Given the description of an element on the screen output the (x, y) to click on. 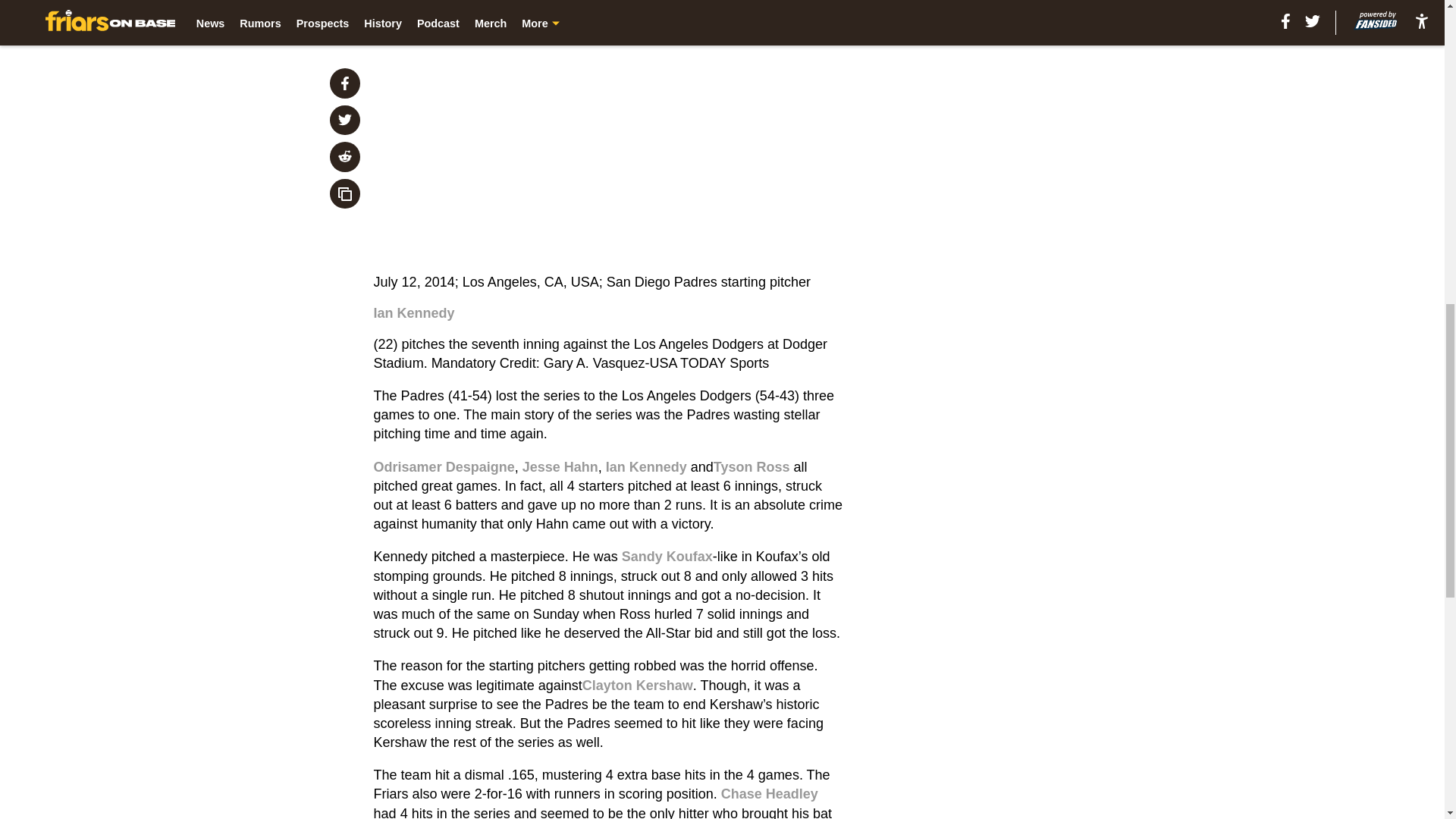
Tyson Ross (751, 467)
Ian Kennedy (646, 467)
Clayton Kershaw (637, 685)
Jesse Hahn (560, 467)
Sandy Koufax (667, 556)
Chase Headley (769, 793)
Odrisamer Despaigne (444, 467)
Ian Kennedy (414, 313)
